Given the description of an element on the screen output the (x, y) to click on. 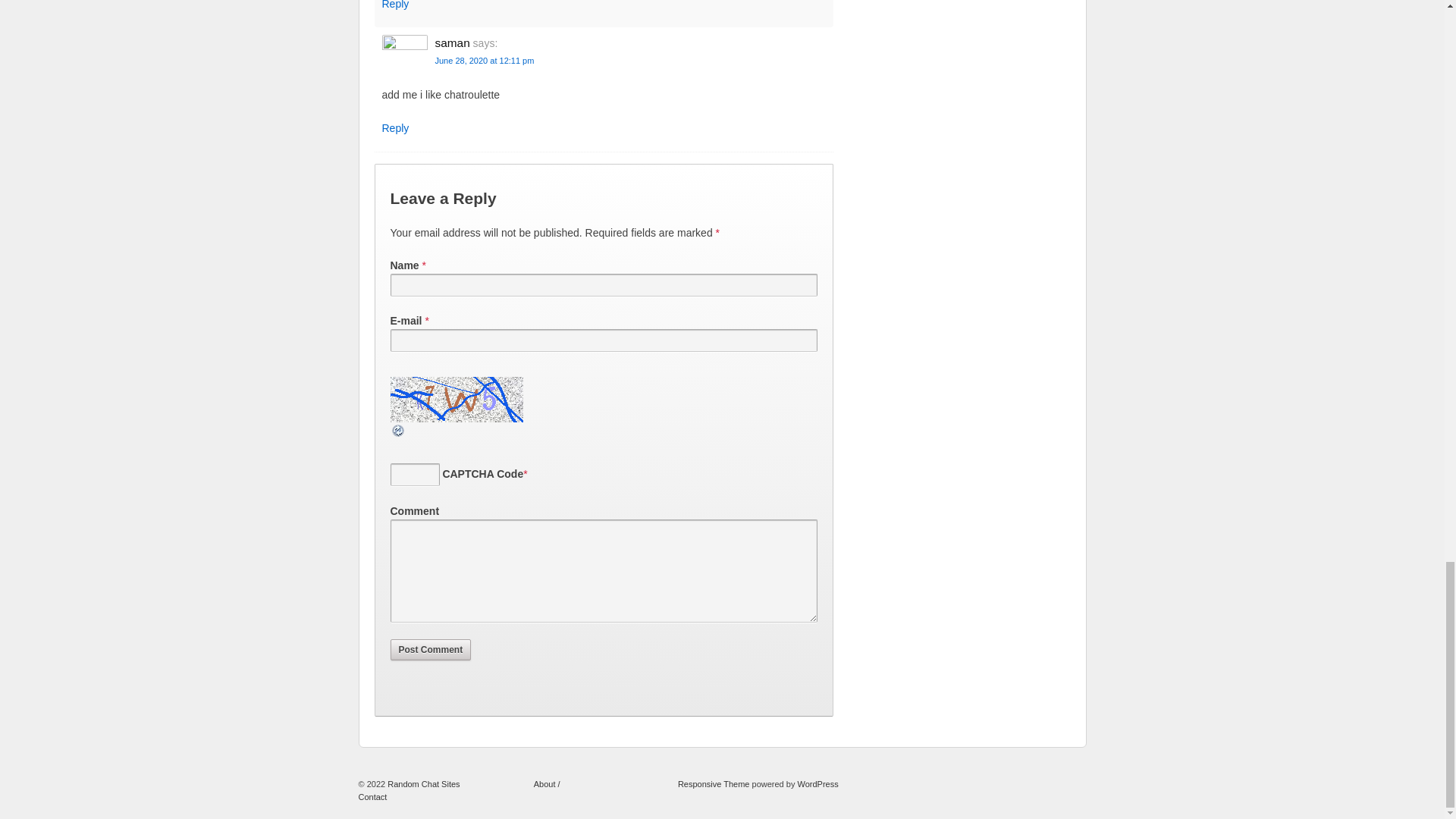
Post Comment (430, 649)
Reply (395, 4)
Refresh Image (398, 429)
June 28, 2020 at 12:11 pm (484, 60)
Random Chat Sites (424, 783)
CAPTCHA Image (457, 399)
Post Comment (430, 649)
Reply (395, 128)
